Given the description of an element on the screen output the (x, y) to click on. 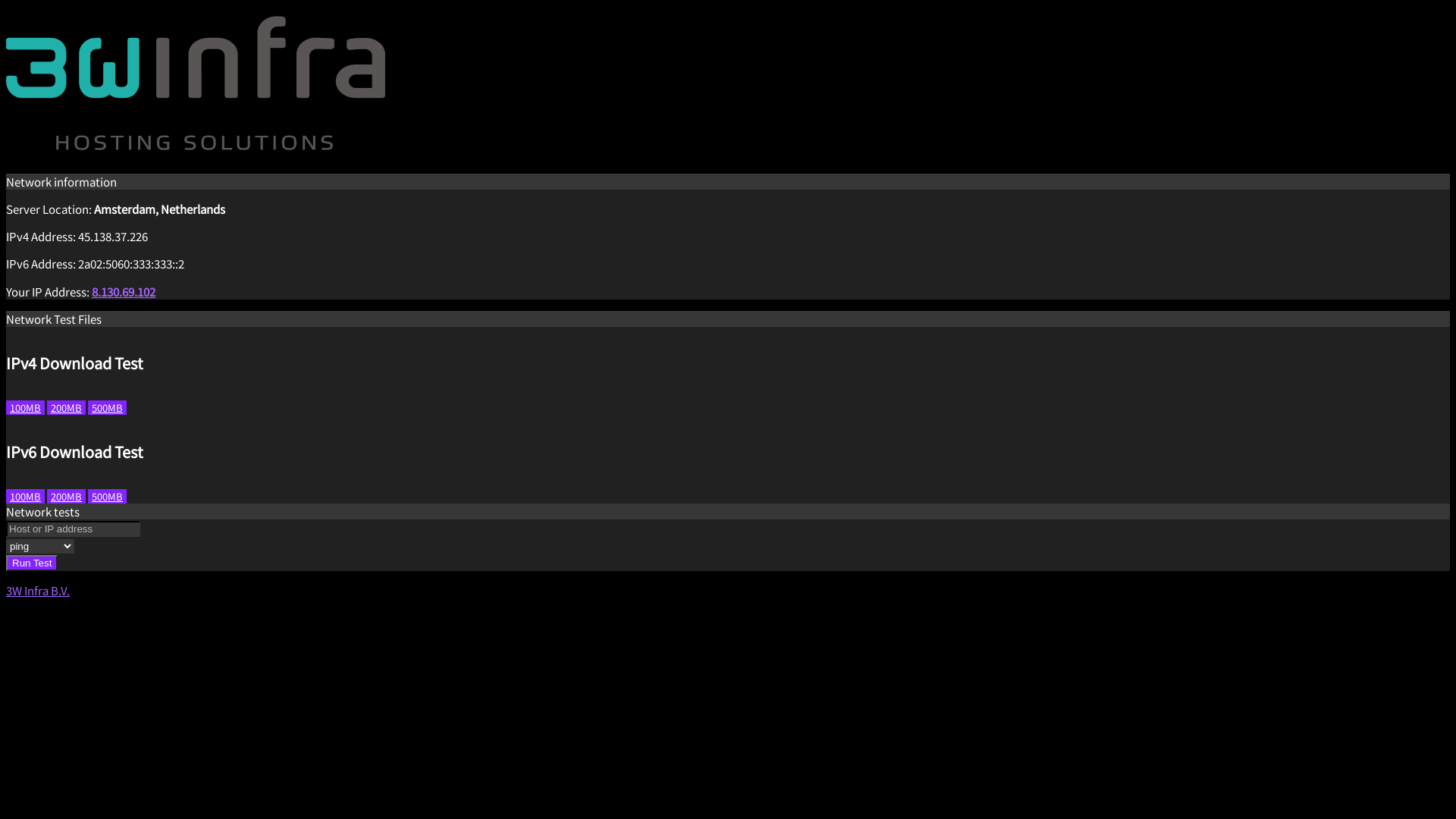
200MB Element type: text (66, 496)
Run Test Element type: text (31, 563)
100MB Element type: text (25, 407)
3W Infra B.V. Element type: text (37, 590)
8.130.69.102 Element type: text (123, 291)
100MB Element type: text (25, 496)
500MB Element type: text (106, 496)
200MB Element type: text (66, 407)
500MB Element type: text (106, 407)
